Given the description of an element on the screen output the (x, y) to click on. 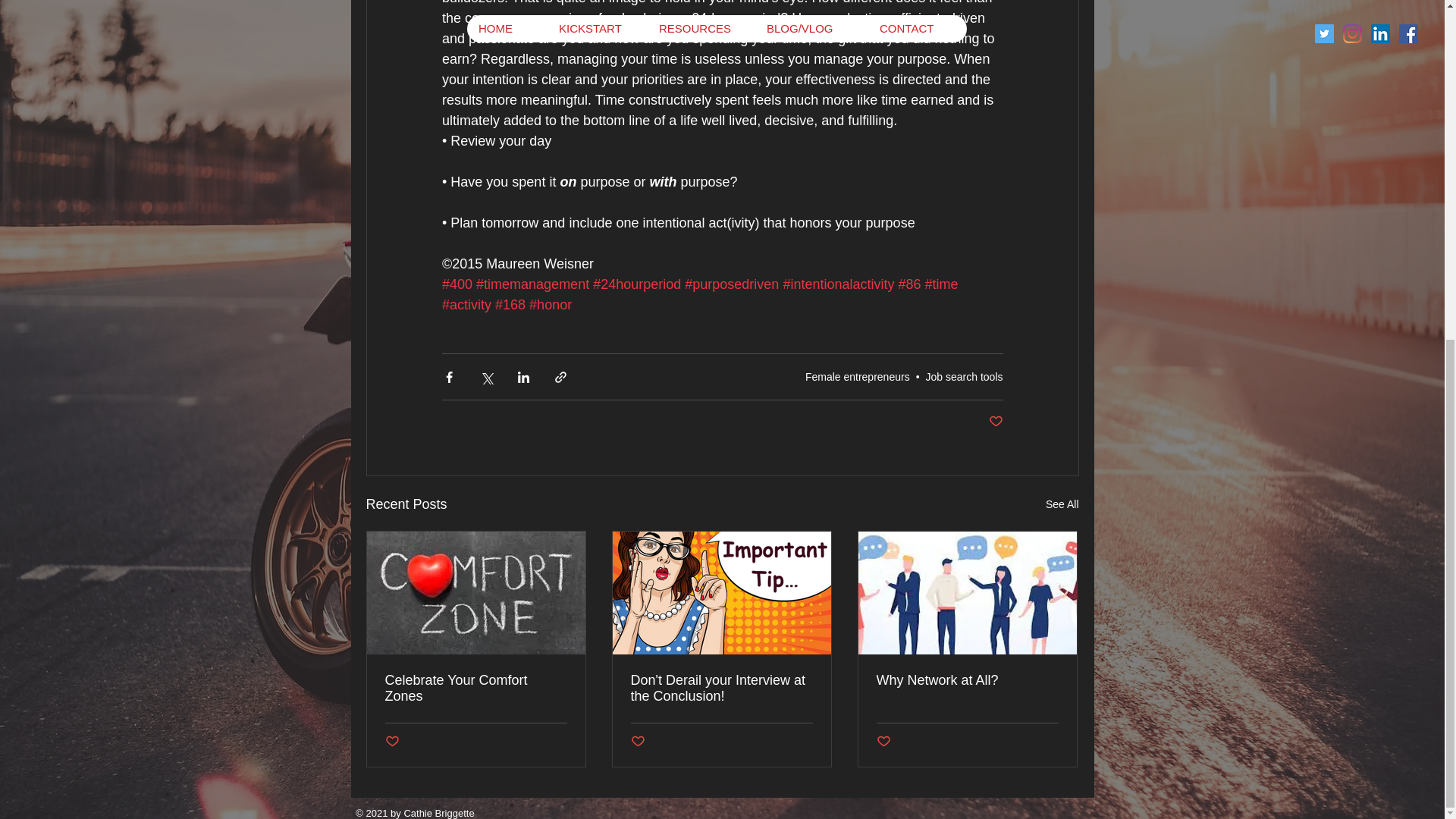
Post not marked as liked (995, 421)
Don't Derail your Interview at the Conclusion! (721, 688)
Post not marked as liked (391, 741)
See All (1061, 504)
Job search tools (964, 377)
Celebrate Your Comfort Zones (476, 688)
Post not marked as liked (637, 741)
Female entrepreneurs (857, 377)
